Given the description of an element on the screen output the (x, y) to click on. 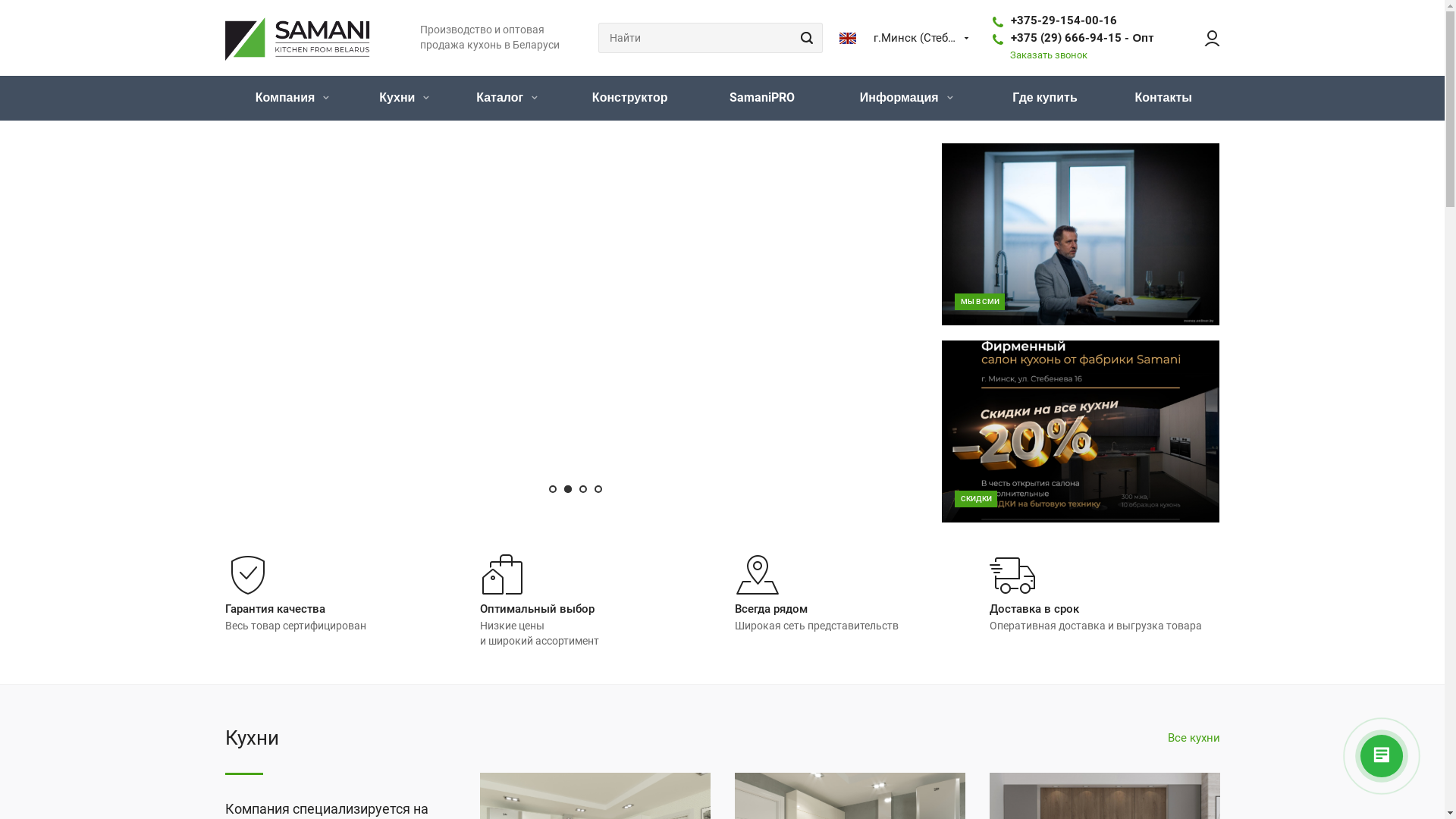
4 Element type: text (598, 488)
SamaniPRO Element type: text (761, 97)
2 Element type: text (567, 488)
+375-29-154-00-16 Element type: text (1063, 20)
3 Element type: text (582, 488)
1 Element type: text (552, 488)
